Given the description of an element on the screen output the (x, y) to click on. 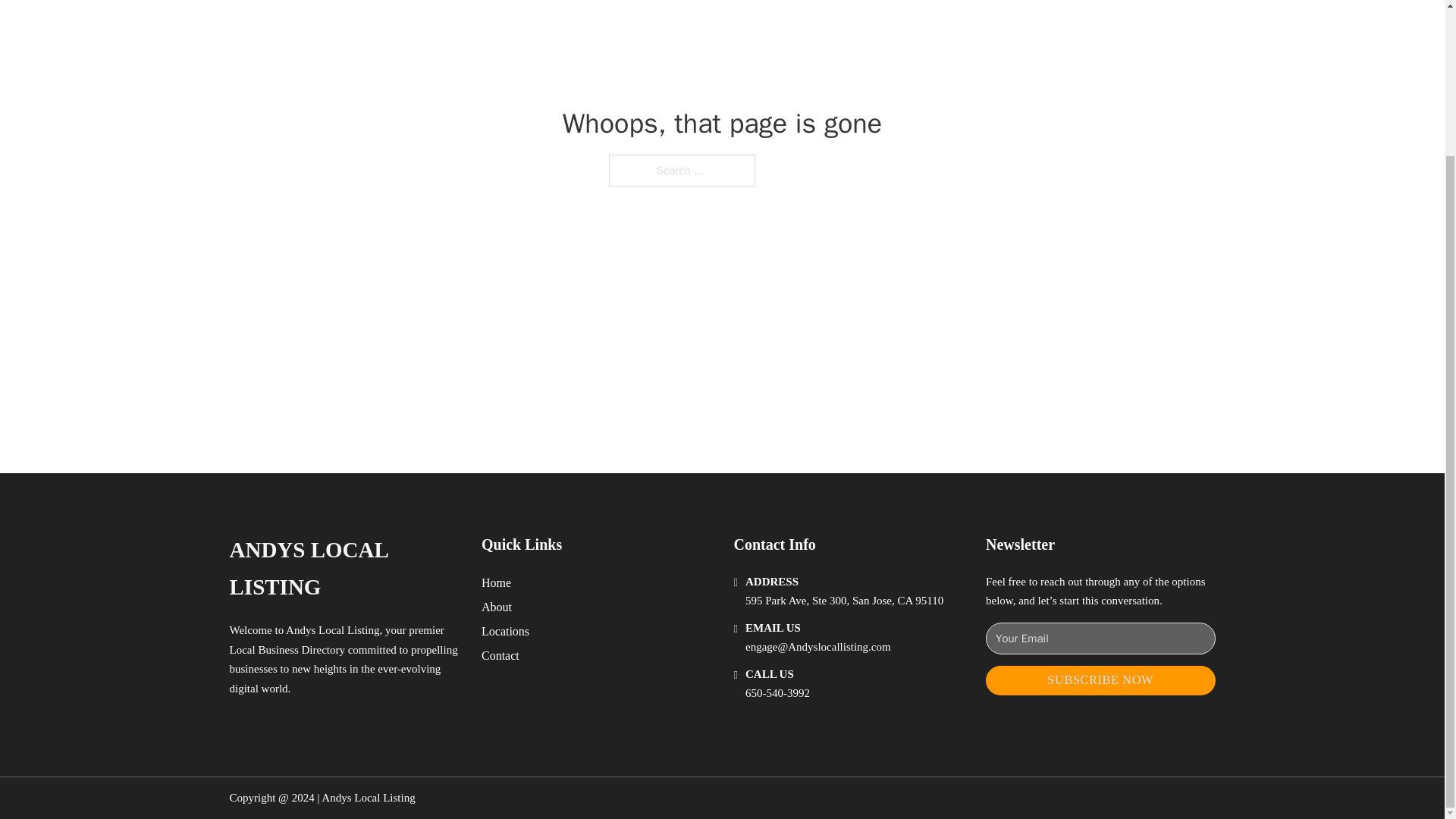
Home (496, 582)
Locations (505, 630)
650-540-3992 (777, 693)
ANDYS LOCAL LISTING (343, 568)
Contact (500, 655)
SUBSCRIBE NOW (1100, 680)
About (496, 607)
